Given the description of an element on the screen output the (x, y) to click on. 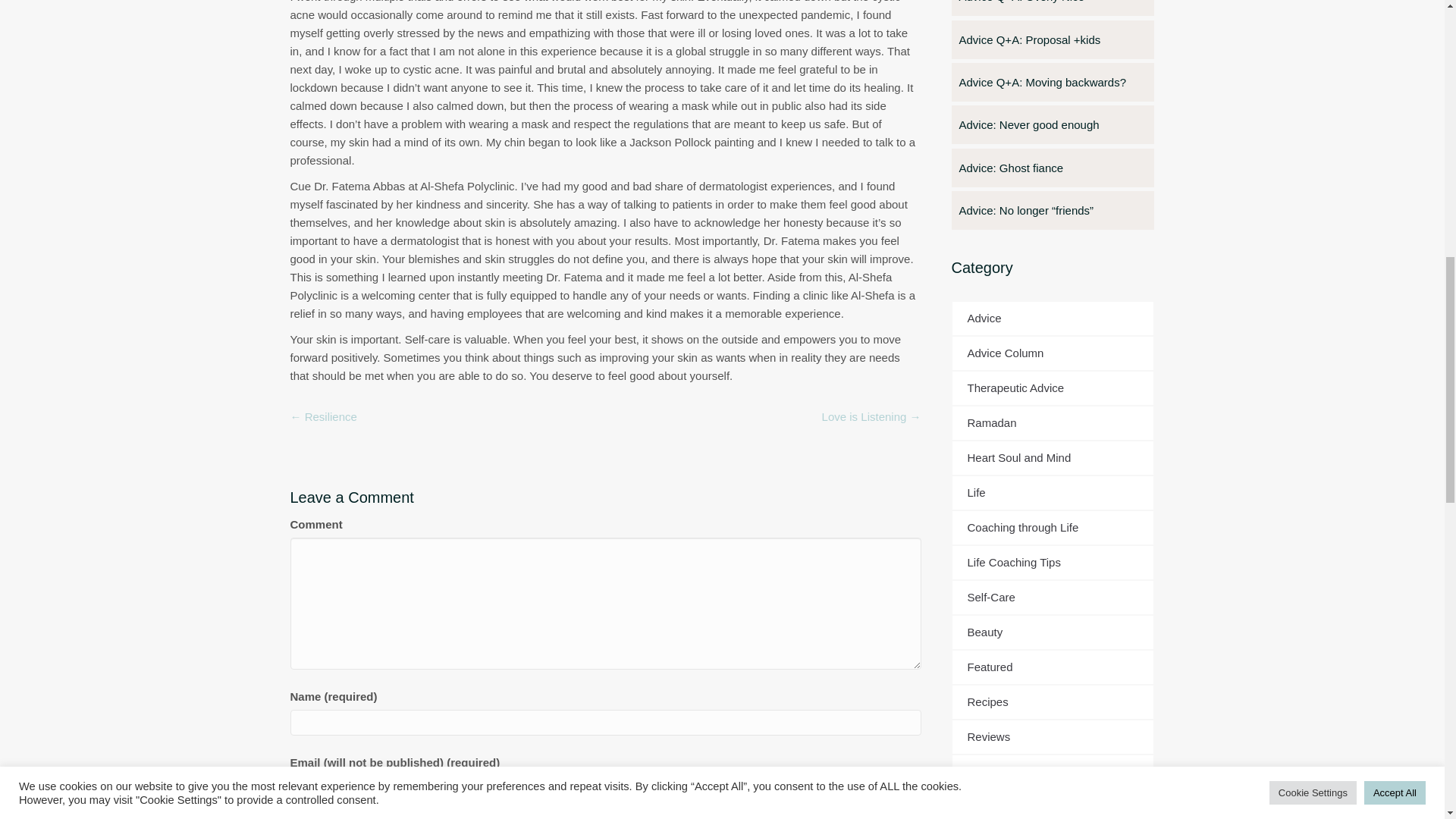
Advice: Never good enough (1053, 124)
Advice: Ghost fiance (1053, 167)
